Given the description of an element on the screen output the (x, y) to click on. 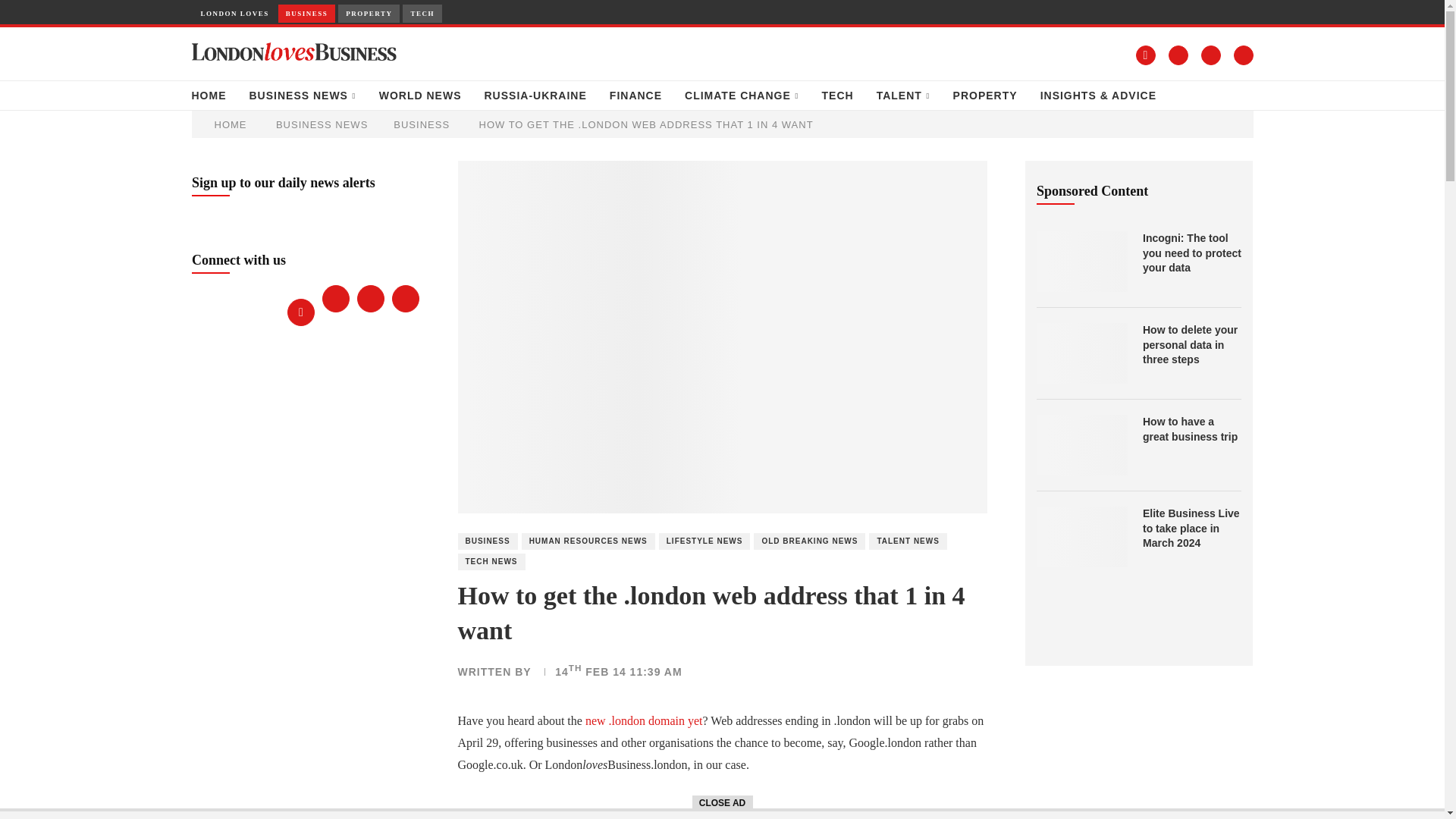
Incogni: The tool you need to protect your data (1081, 260)
How to delete your personal data in three steps (1191, 344)
How to delete your personal data in three steps (1081, 353)
Incogni: The tool you need to protect your data (1191, 253)
How to have a great business trip (1081, 444)
How to have a great business trip (1191, 429)
